Given the description of an element on the screen output the (x, y) to click on. 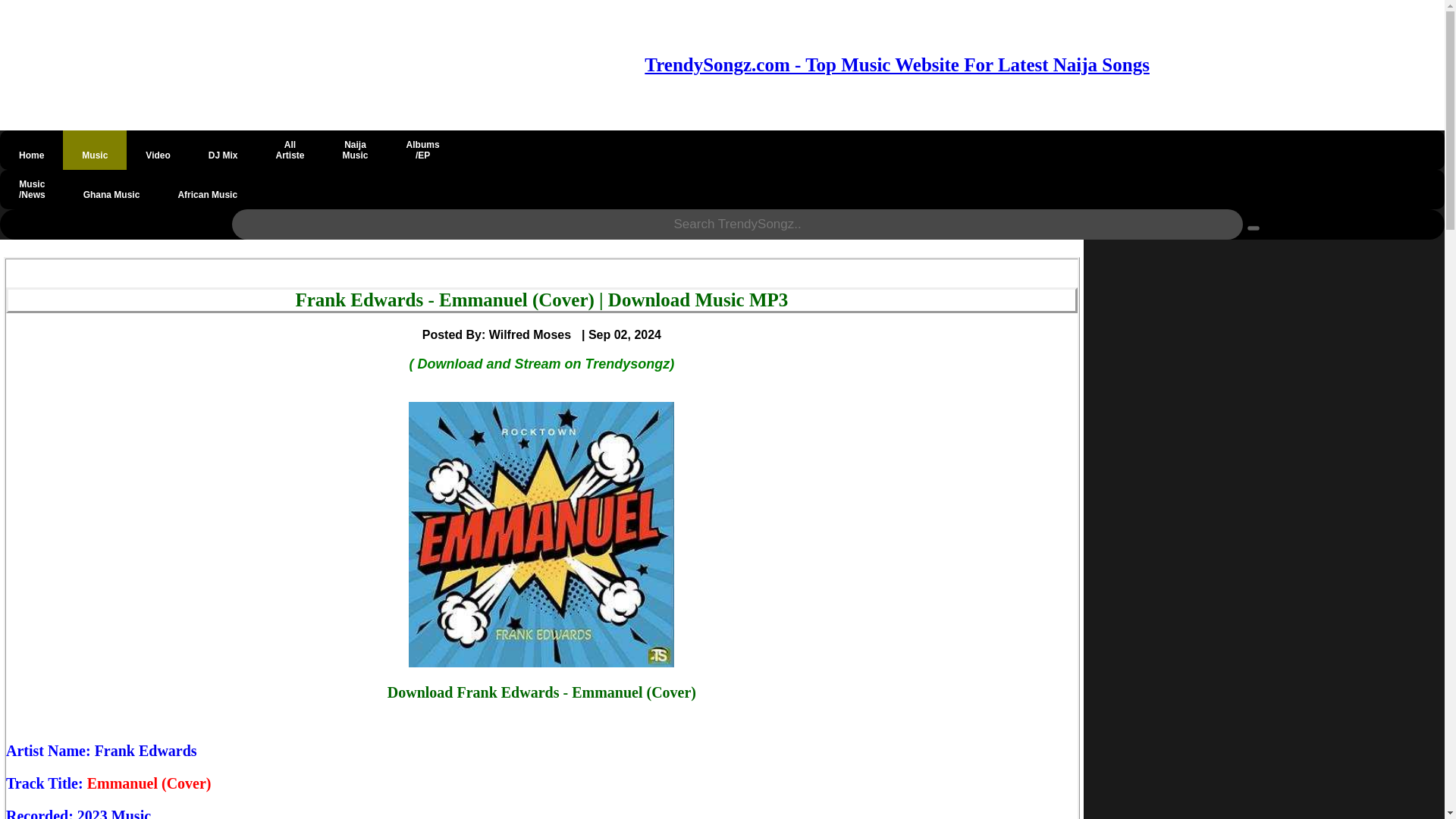
Frank Edwards (145, 750)
DJ Mix (223, 149)
Video (157, 149)
Music (94, 149)
Home (31, 149)
Ghana Music (111, 189)
African Music (207, 189)
Search source code (290, 149)
TrendySongz.com - Top Music Website For Latest Naija Songs (1253, 228)
